Given the description of an element on the screen output the (x, y) to click on. 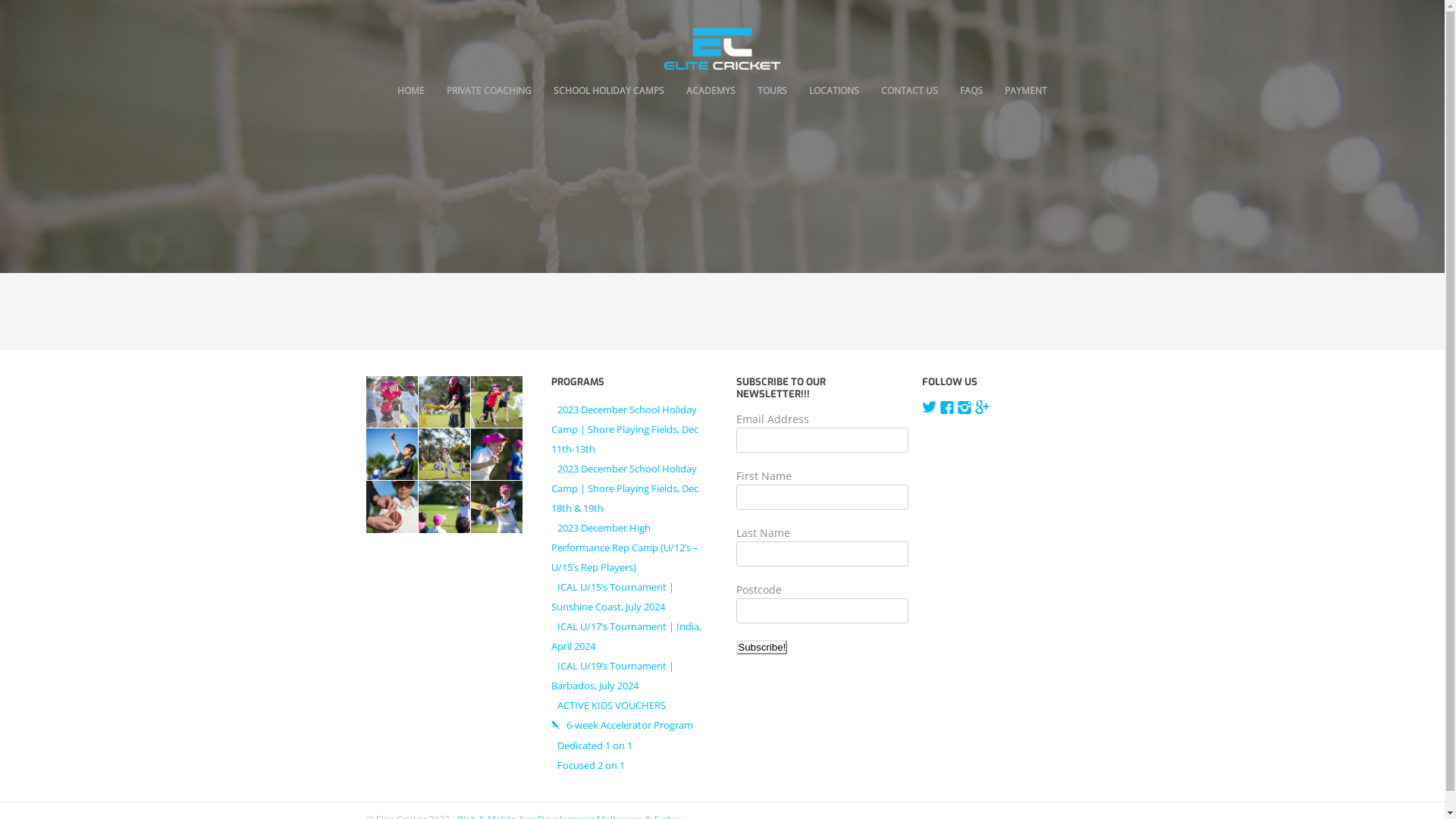
CONTACT US Element type: text (909, 90)
LOCATIONS Element type: text (834, 90)
TOURS Element type: text (772, 90)
ACTIVE KIDS VOUCHERS Element type: text (608, 705)
Dedicated 1 on 1 Element type: text (591, 745)
SCHOOL HOLIDAY CAMPS Element type: text (608, 90)
HOME Element type: text (410, 90)
Focused 2 on 1 Element type: text (587, 764)
ACADEMYS Element type: text (710, 90)
FAQS Element type: text (971, 90)
Subscribe! Element type: text (761, 647)
PRIVATE COACHING Element type: text (488, 90)
6-week Accelerator Program Element type: text (622, 724)
PAYMENT Element type: text (1025, 90)
